Given the description of an element on the screen output the (x, y) to click on. 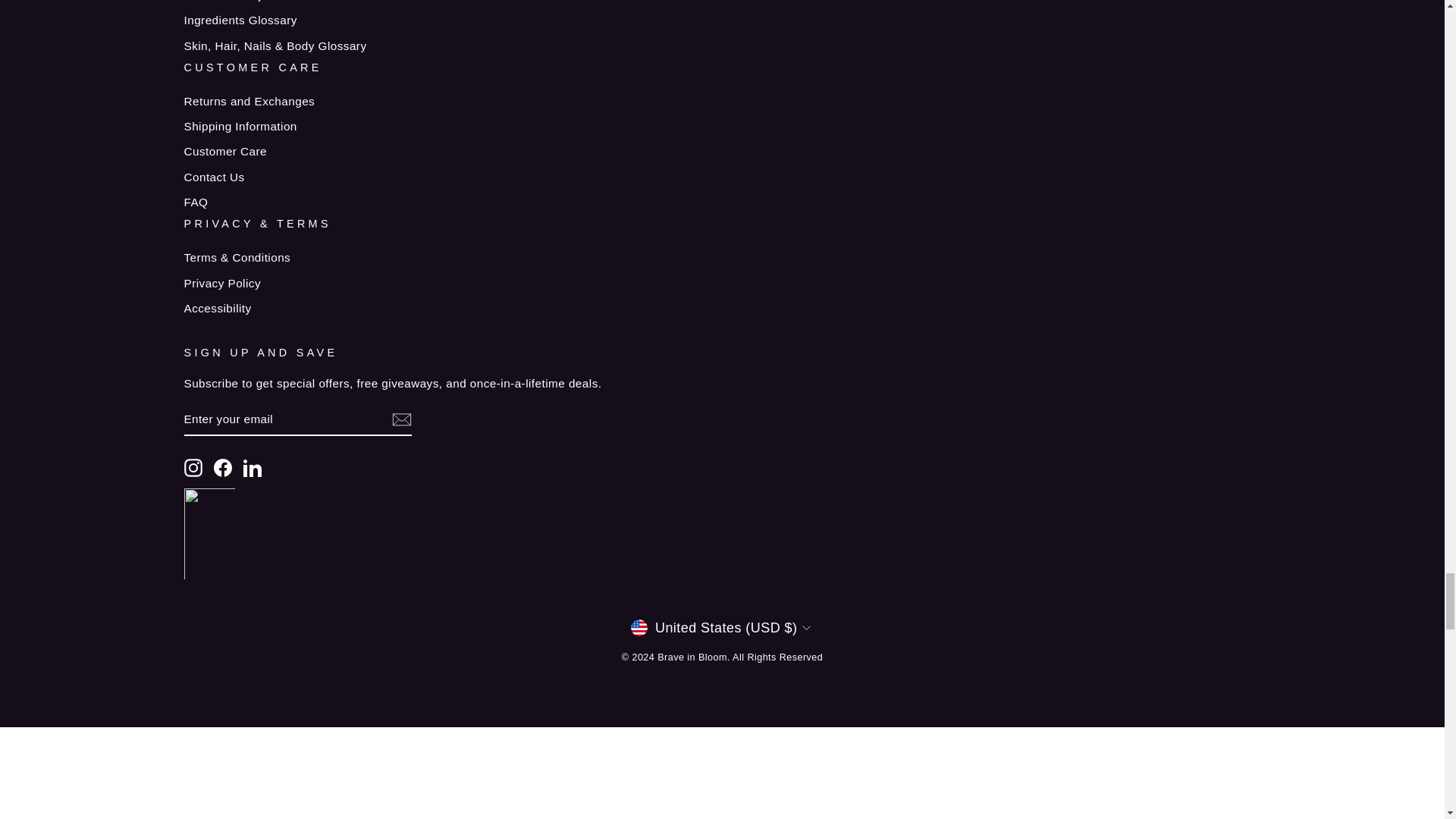
Brave in Bloom on Facebook (222, 467)
Brave in Bloom on Instagram (192, 467)
Brave in Bloom on LinkedIn (251, 467)
